Given the description of an element on the screen output the (x, y) to click on. 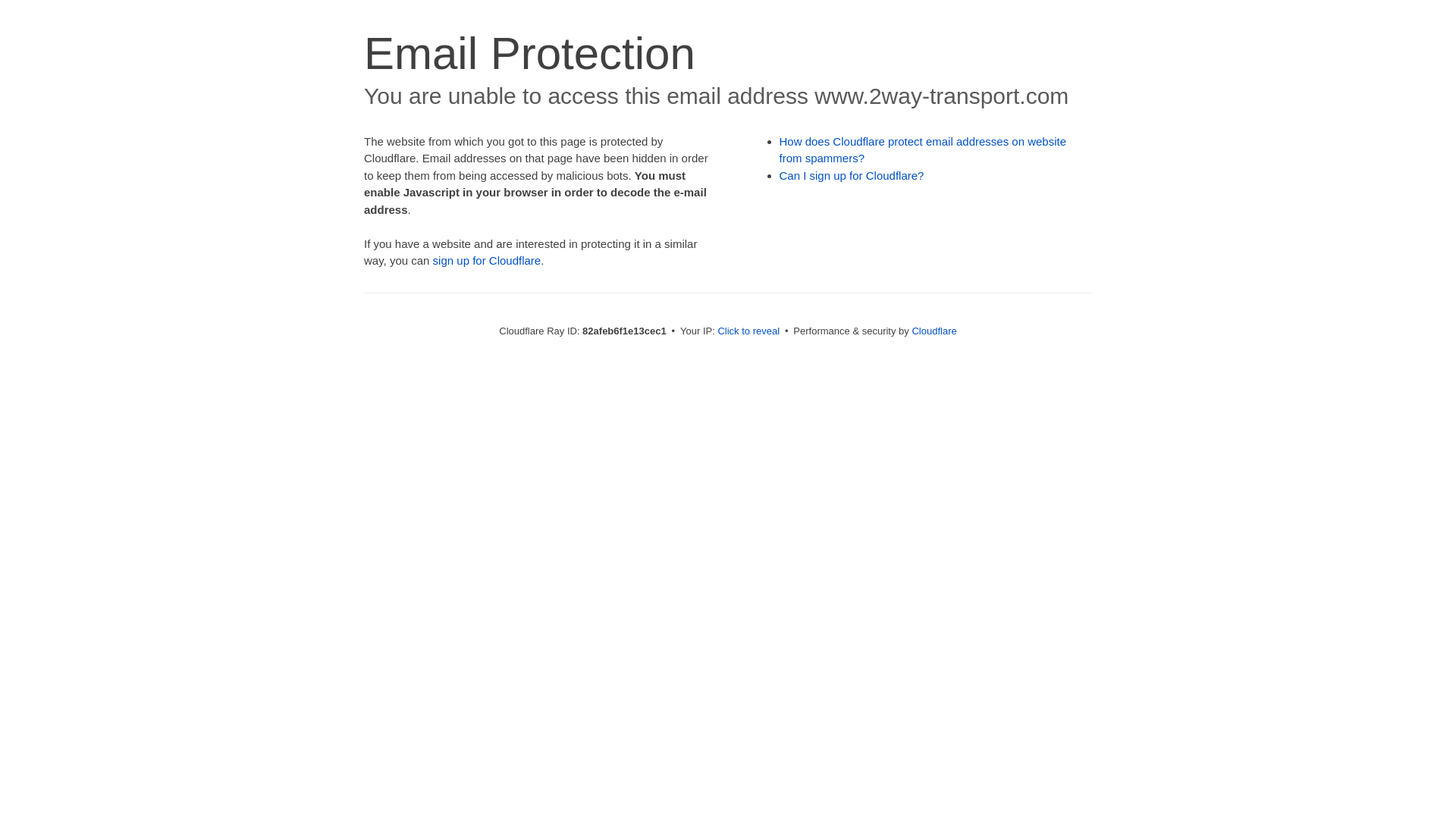
Can I sign up for Cloudflare? Element type: text (851, 175)
sign up for Cloudflare Element type: text (487, 260)
Click to reveal Element type: text (748, 330)
Cloudflare Element type: text (933, 330)
